Given the description of an element on the screen output the (x, y) to click on. 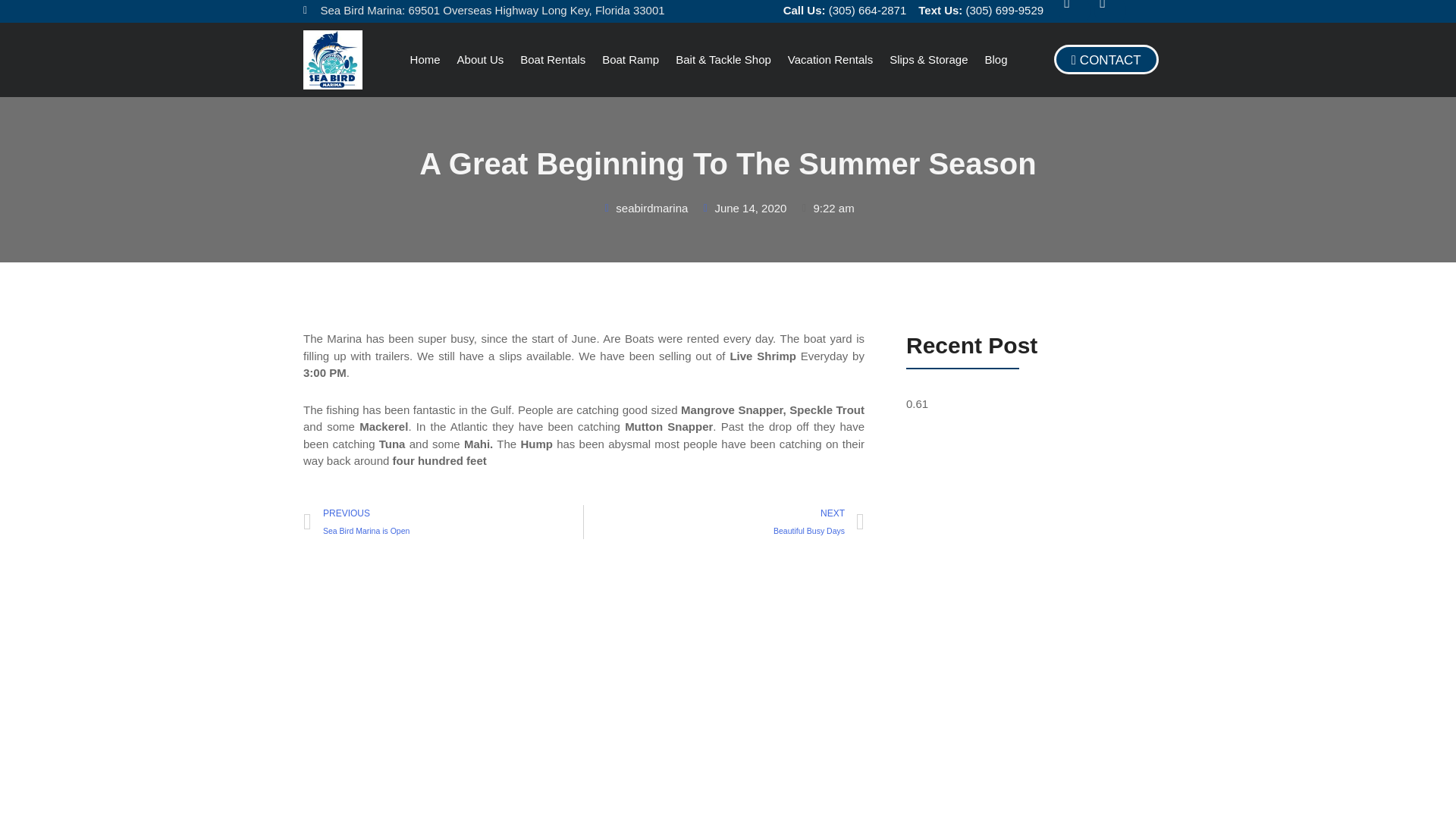
CONTACT (1106, 59)
Vacation Rentals (830, 59)
About Us (442, 521)
Boat Ramp (481, 59)
Home (630, 59)
Boat Rentals (425, 59)
June 14, 2020 (552, 59)
seabirdmarina (743, 208)
